Given the description of an element on the screen output the (x, y) to click on. 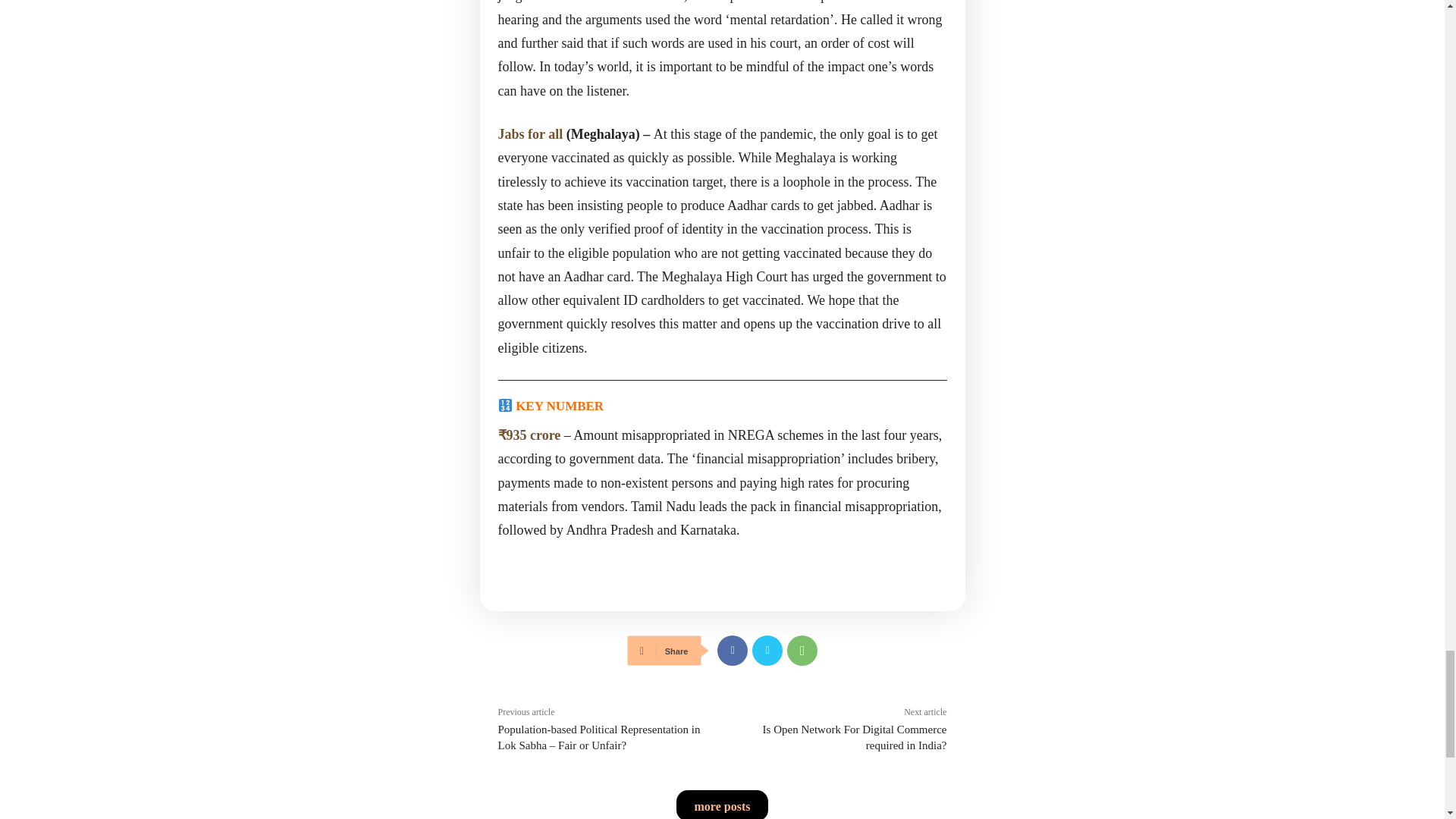
Facebook (732, 650)
more posts (722, 804)
Twitter (767, 650)
WhatsApp (801, 650)
More Posts (722, 804)
Is Open Network For Digital Commerce required in India? (854, 737)
Jabs for all (529, 133)
